Given the description of an element on the screen output the (x, y) to click on. 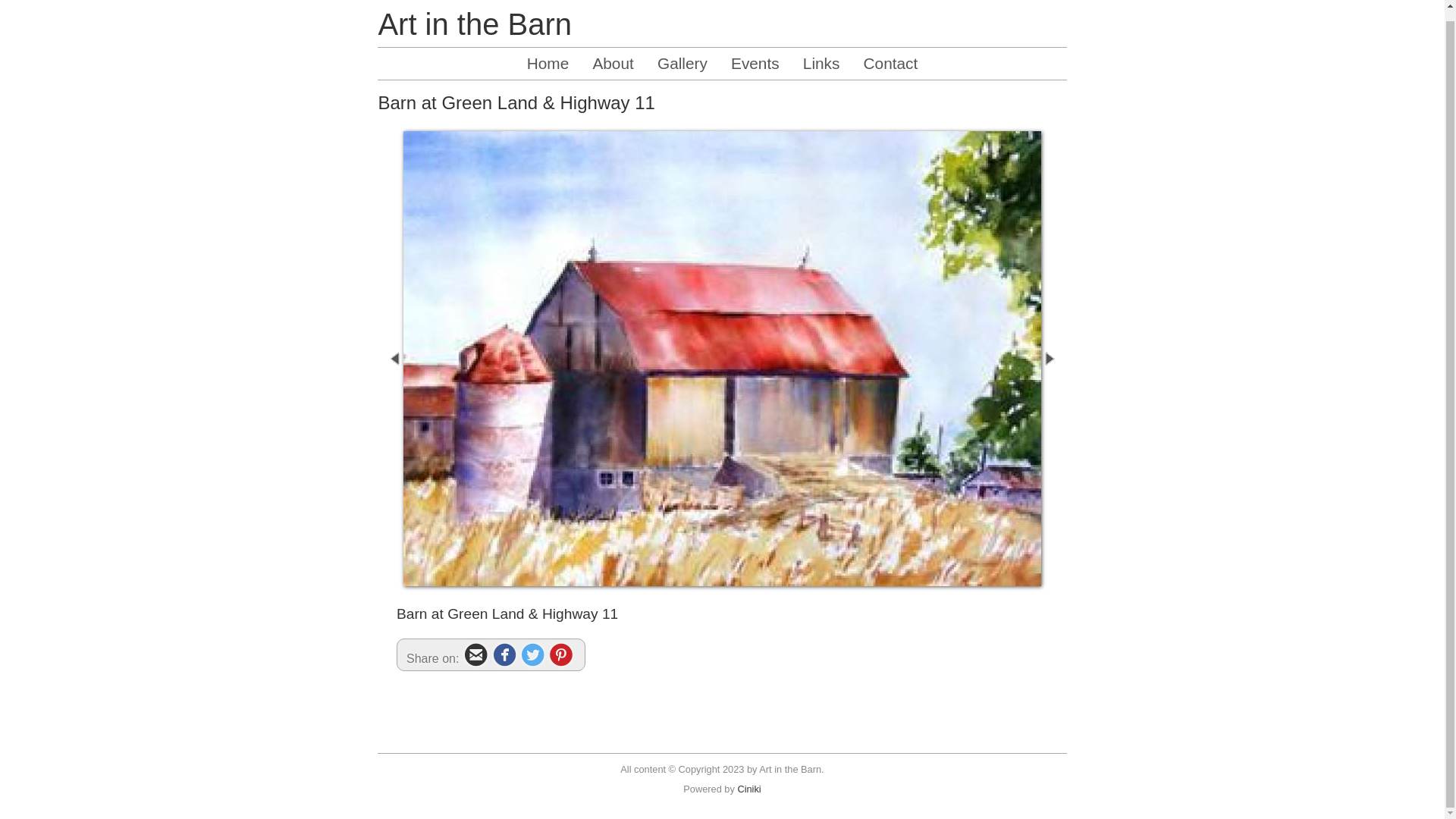
Barn at Green Land & Highway 11 Element type: hover (722, 368)
About Element type: text (612, 73)
Gallery Element type: text (682, 73)
Art in the Barn Element type: text (474, 34)
Links Element type: text (821, 73)
Events Element type: text (755, 73)
Home Element type: text (547, 73)
Contact Element type: text (890, 73)
Ciniki Element type: text (748, 799)
